Given the description of an element on the screen output the (x, y) to click on. 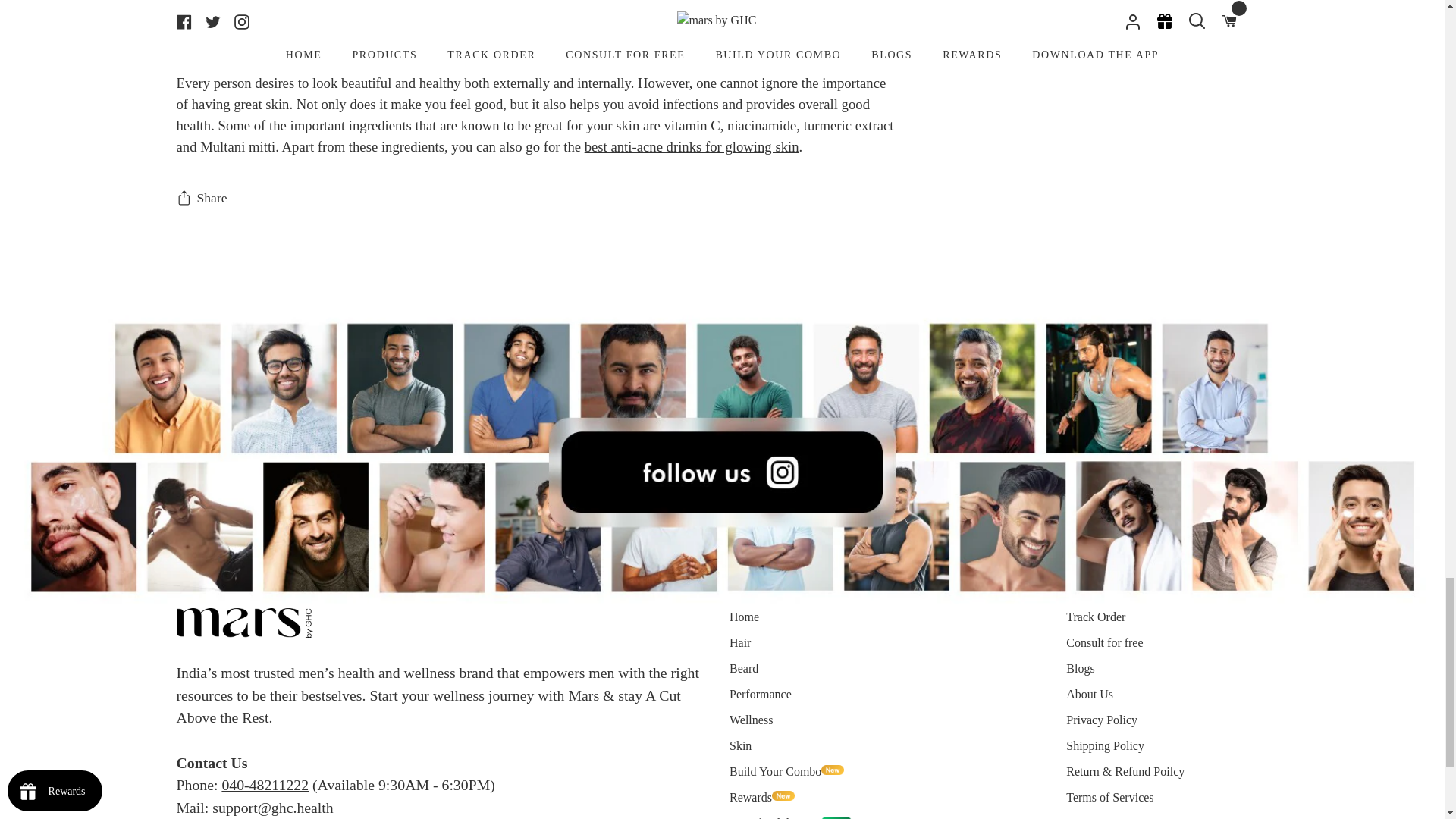
tel:040-48211222 (264, 784)
